Given the description of an element on the screen output the (x, y) to click on. 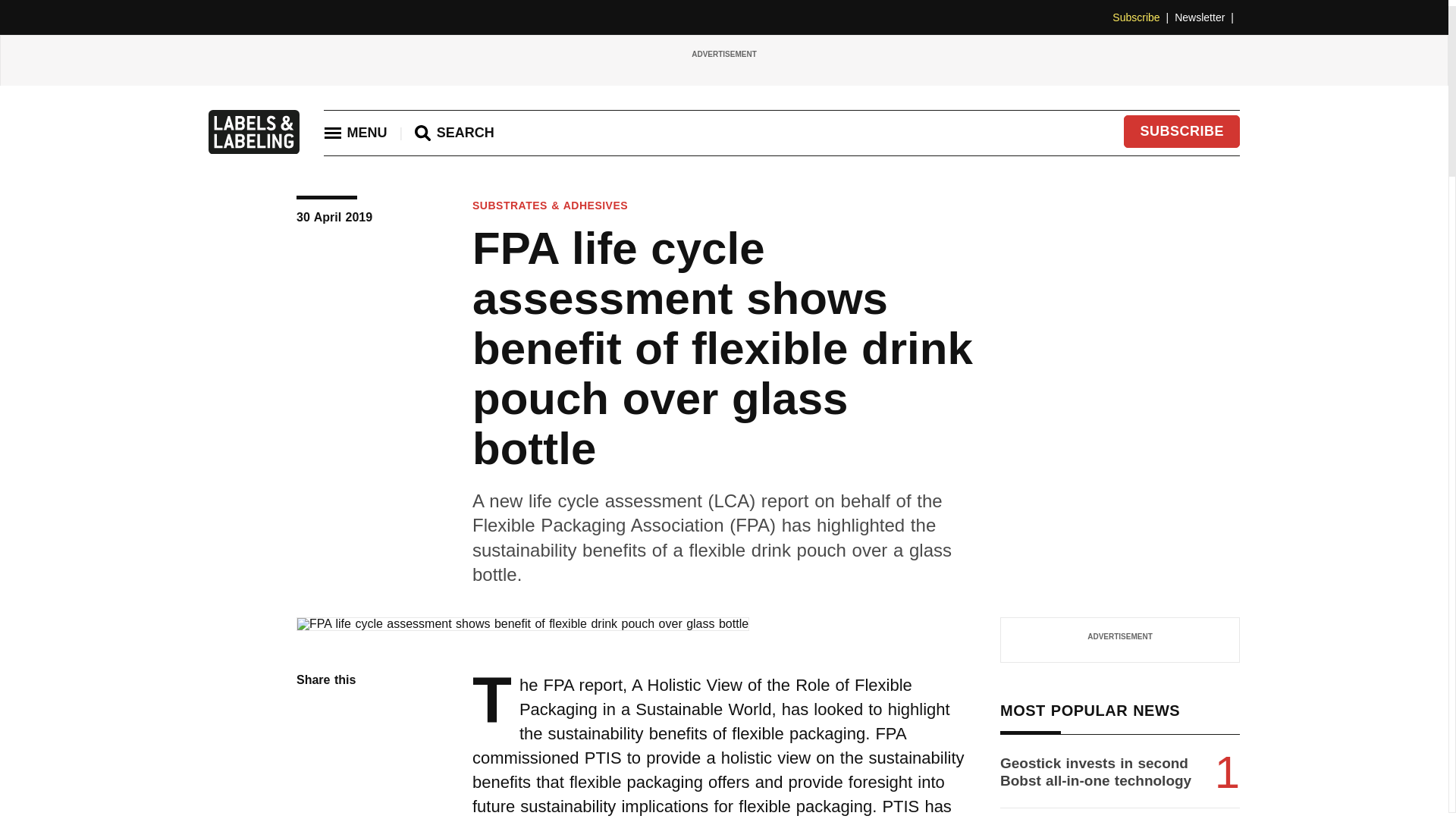
Subscribe (1143, 17)
MENU (355, 132)
SEARCH (454, 132)
SUBSCRIBE (1182, 131)
Newsletter (1207, 17)
